Given the description of an element on the screen output the (x, y) to click on. 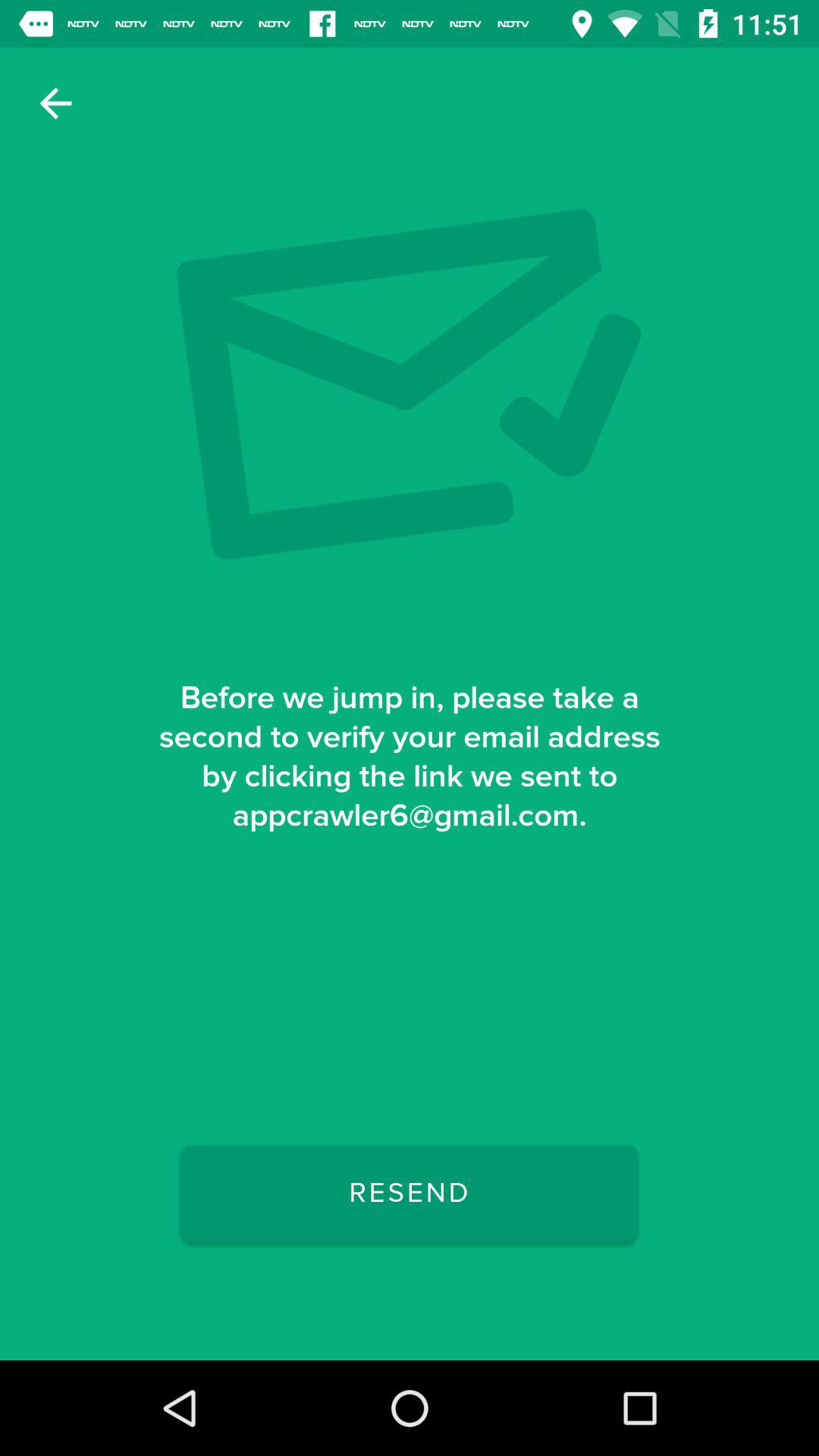
flip to the resend icon (409, 1193)
